Given the description of an element on the screen output the (x, y) to click on. 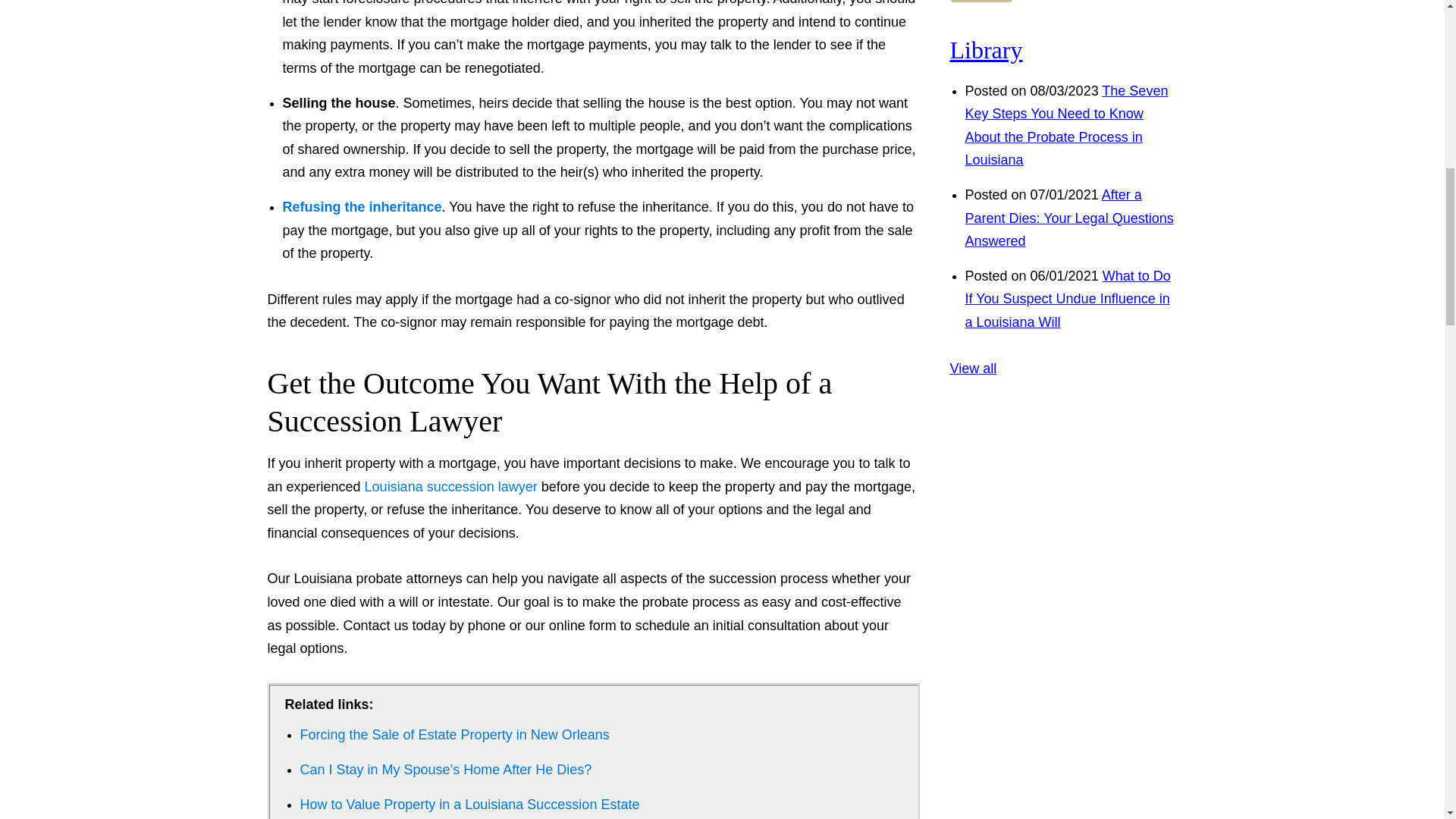
Louisiana succession lawyer (451, 486)
Refusing the inheritance (361, 206)
Forcing the Sale of Estate Property in New Orleans (454, 734)
How to Value Property in a Louisiana Succession Estate (469, 804)
